Given the description of an element on the screen output the (x, y) to click on. 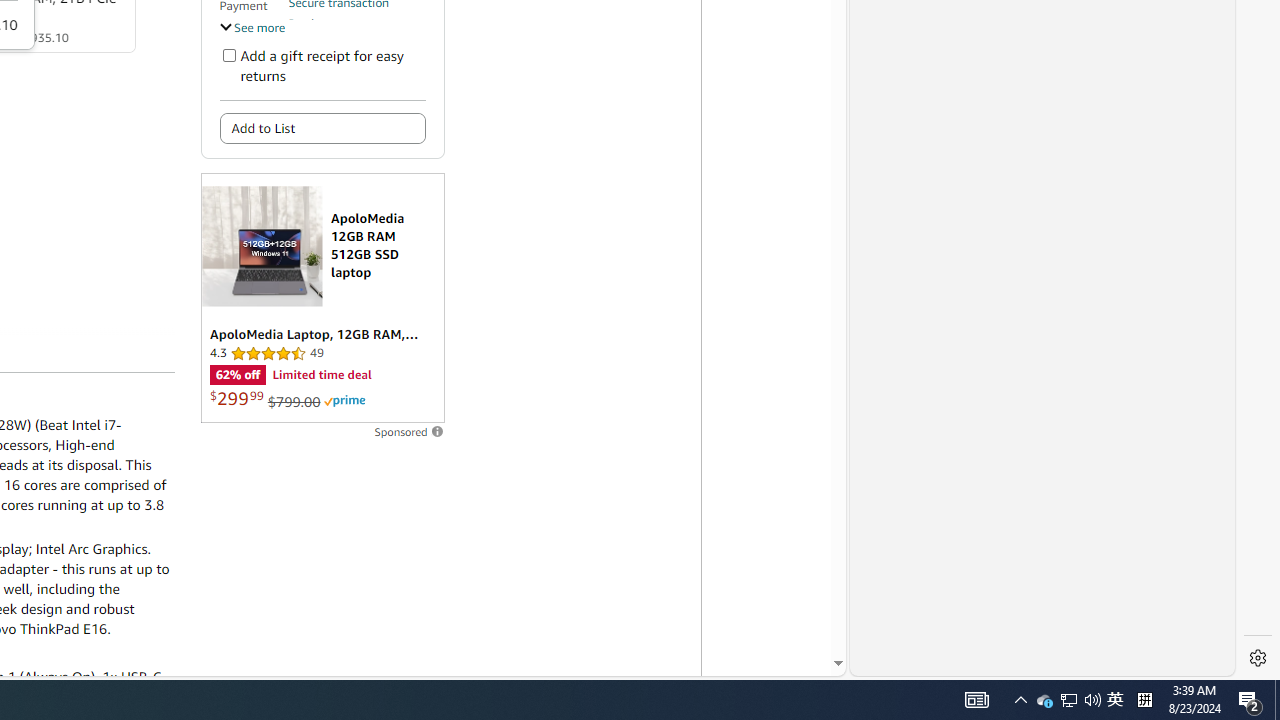
Sponsored ad (322, 297)
Add to List (322, 128)
Prime (344, 400)
Product support included (357, 31)
Add a gift receipt for easy returns (228, 54)
